Given the description of an element on the screen output the (x, y) to click on. 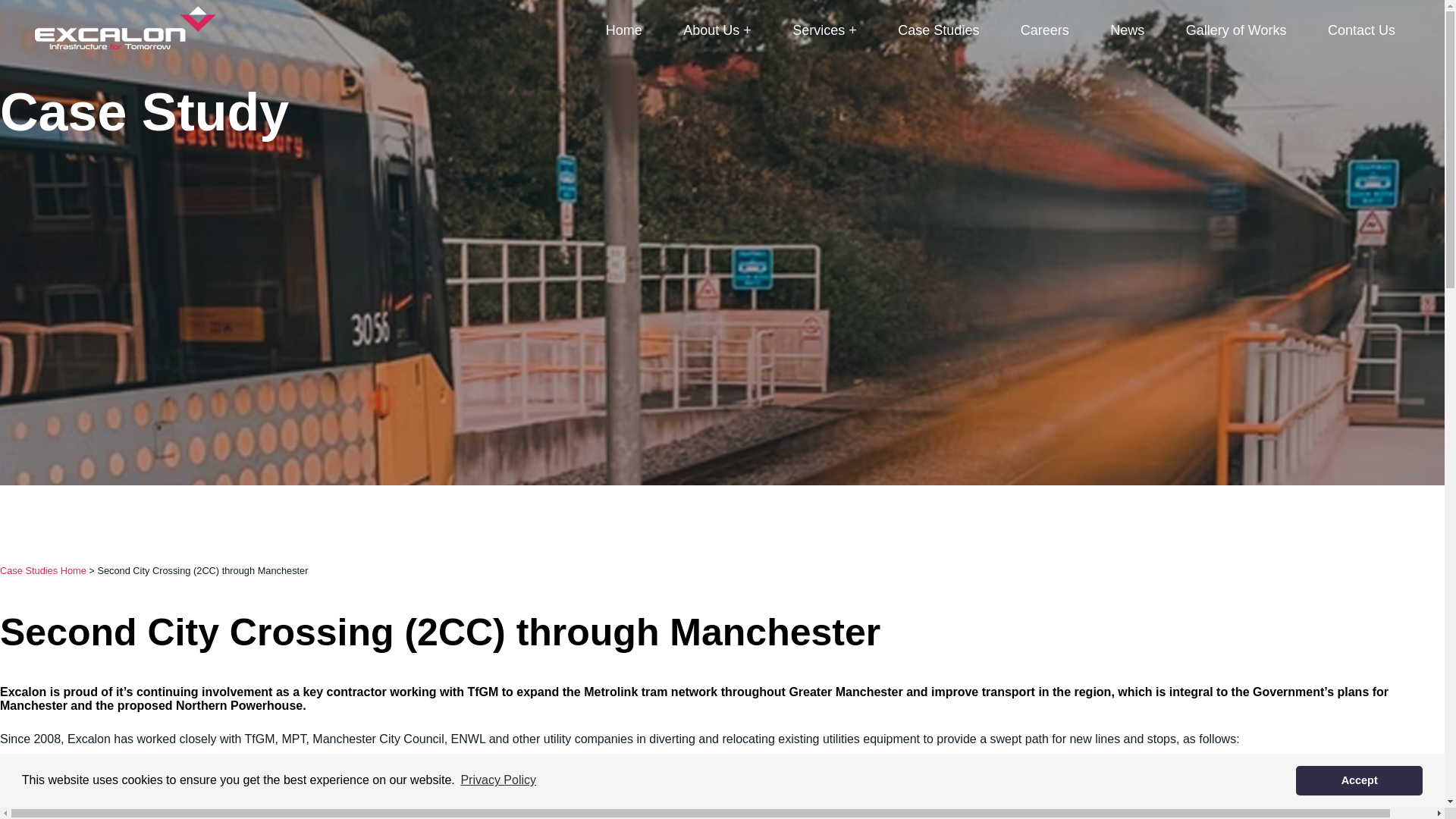
Privacy Policy (498, 780)
Home (623, 29)
Services (824, 29)
Contact Us (1360, 29)
Accept (1358, 780)
Case Studies (938, 29)
Case Studies Home (42, 570)
Careers (1044, 29)
News (1126, 29)
About Us (716, 29)
Gallery of Works (1236, 29)
